Given the description of an element on the screen output the (x, y) to click on. 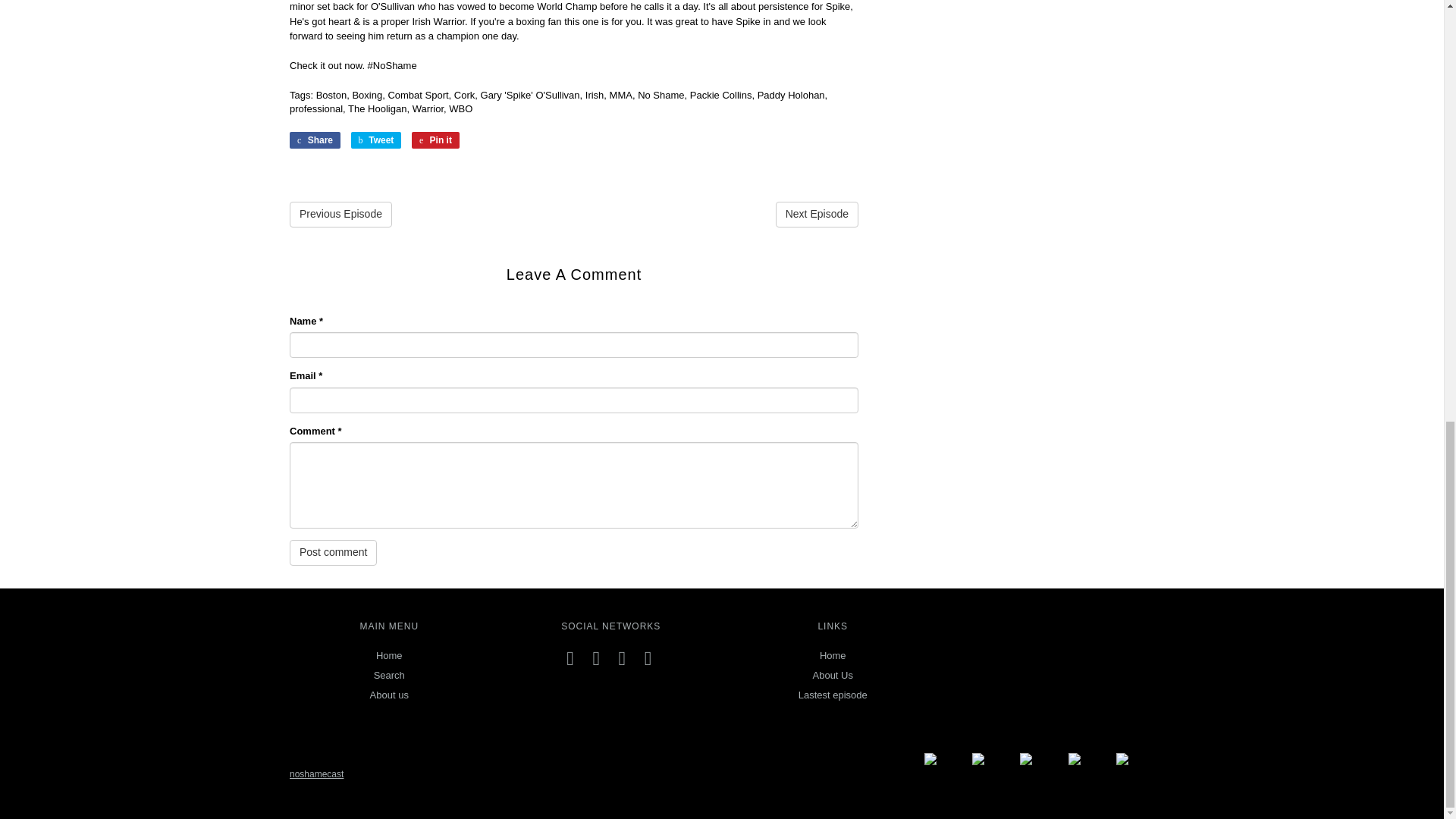
Gary 'Spike' O'Sullivan (529, 94)
Boston (330, 94)
Post comment (333, 552)
Cork (464, 94)
Boxing (366, 94)
Irish (594, 94)
Combat Sport (417, 94)
